Given the description of an element on the screen output the (x, y) to click on. 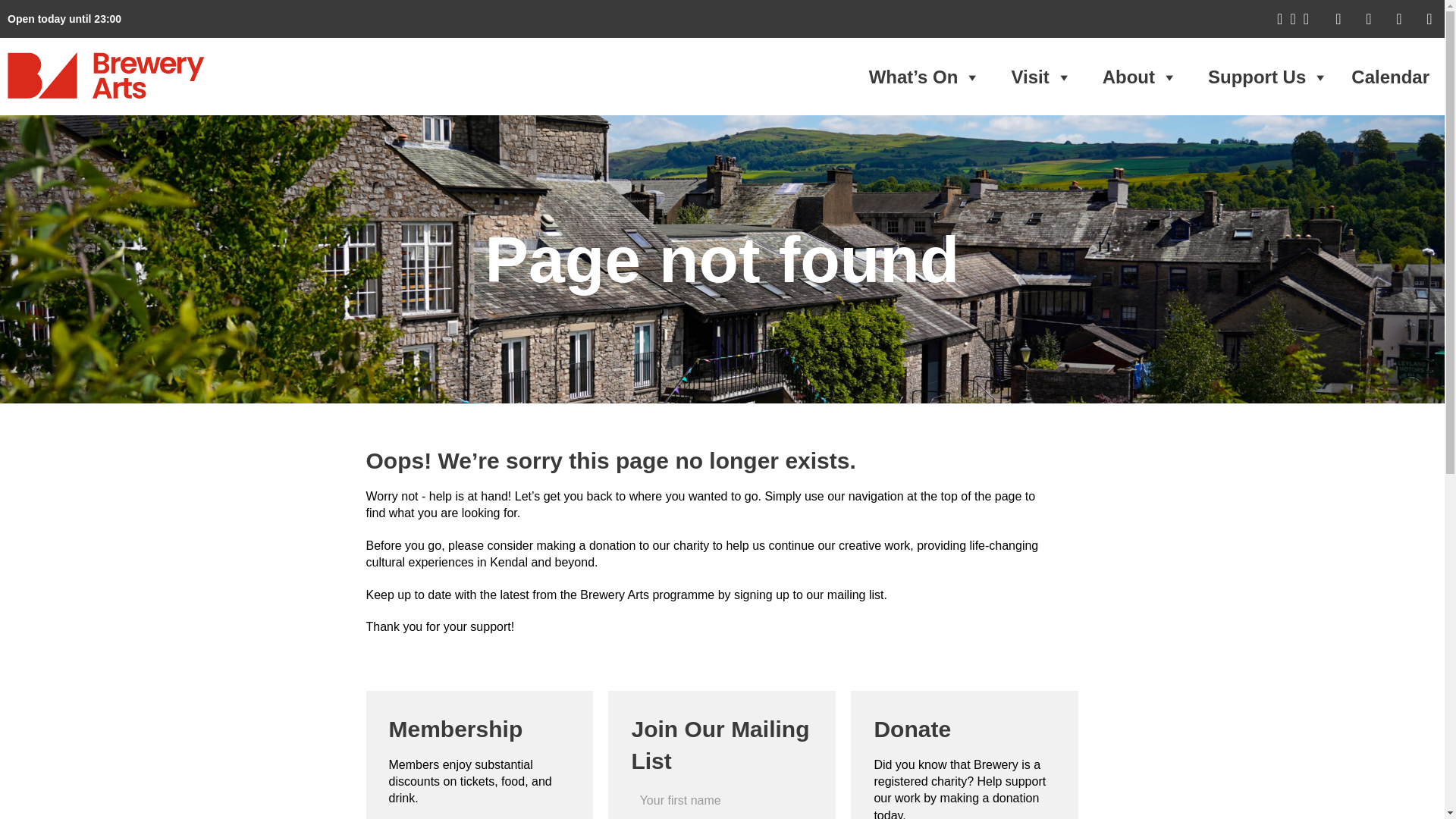
Visit (1040, 77)
About (1139, 77)
Open today until 23:00 (63, 19)
